Given the description of an element on the screen output the (x, y) to click on. 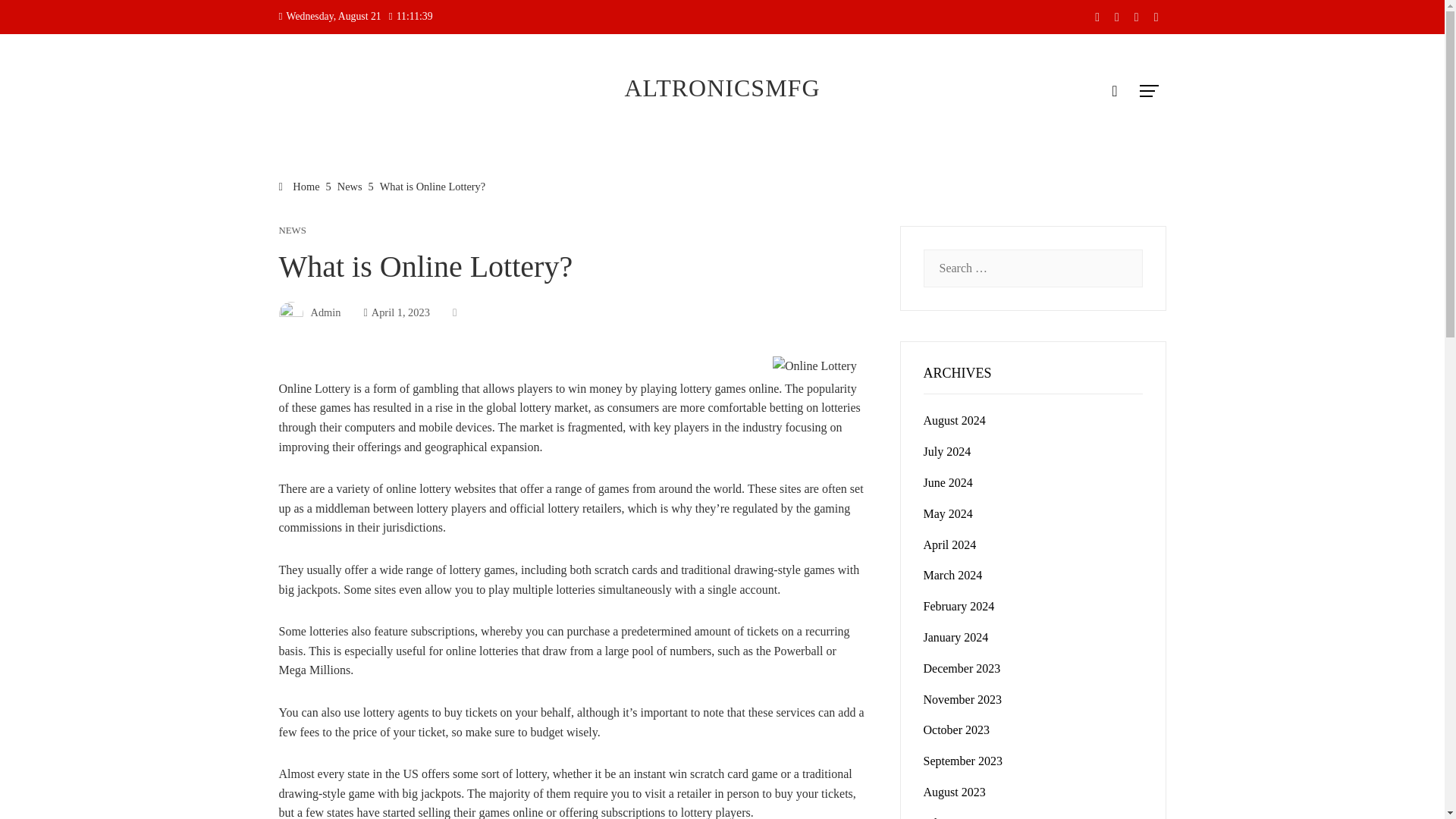
July 2024 (947, 451)
July 2023 (947, 817)
October 2023 (956, 729)
News (349, 186)
May 2024 (947, 513)
January 2024 (955, 636)
November 2023 (963, 698)
April 2024 (949, 544)
Home (299, 186)
NEWS (292, 230)
